Given the description of an element on the screen output the (x, y) to click on. 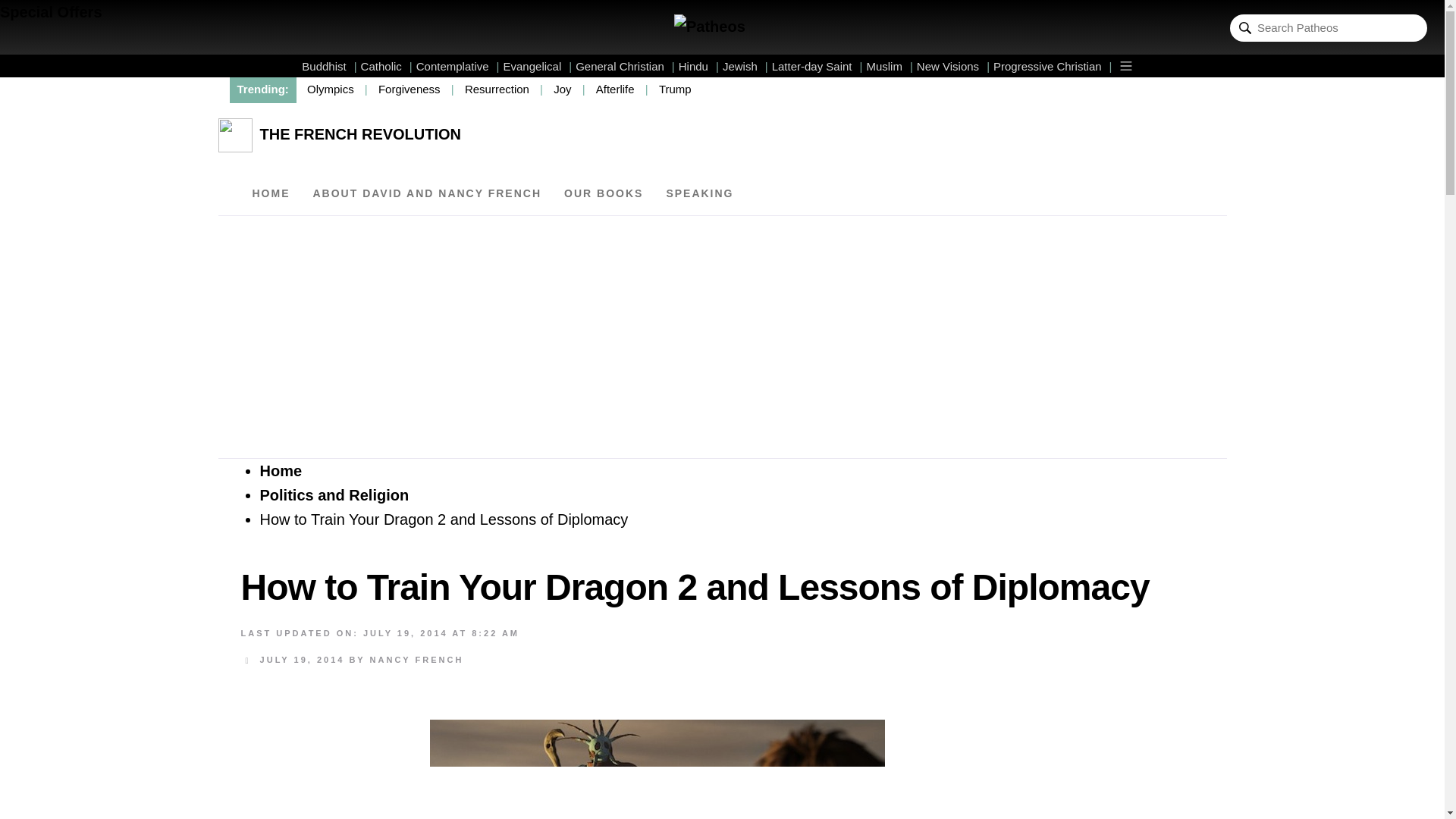
Evangelical (537, 65)
Progressive Christian (1052, 65)
Catholic (386, 65)
HowtoTrainDragon2 (657, 769)
Contemplative (457, 65)
Jewish (745, 65)
Buddhist (328, 65)
Muslim (889, 65)
Latter-day Saint (817, 65)
New Visions (953, 65)
